Given the description of an element on the screen output the (x, y) to click on. 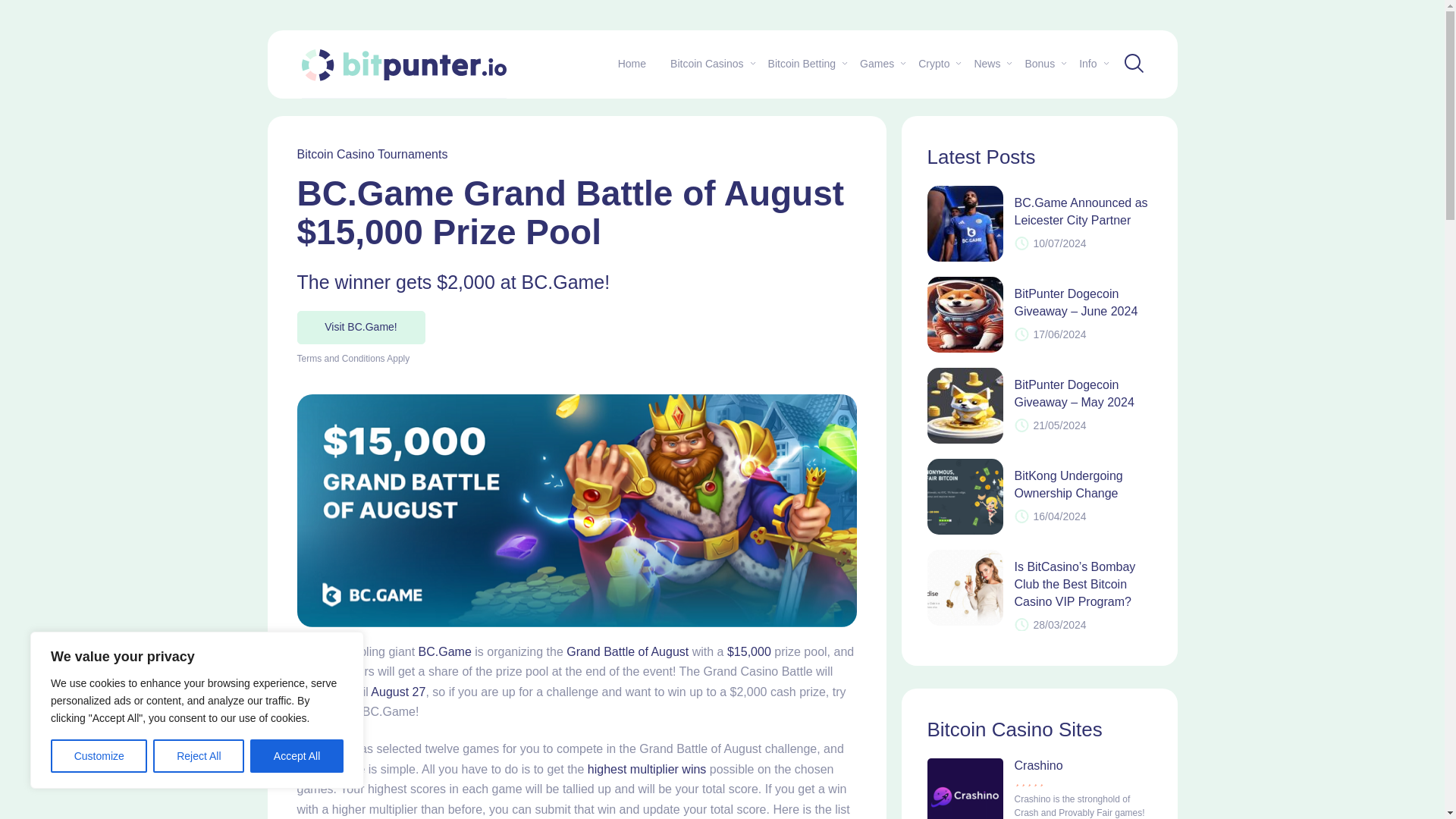
Bitcoin Casinos (706, 63)
Accept All (296, 756)
Reject All (198, 756)
Customize (98, 756)
Bitcoin Casino Tournaments (372, 154)
Home (631, 63)
Bc.game (361, 327)
BitPunter.io (403, 65)
